Given the description of an element on the screen output the (x, y) to click on. 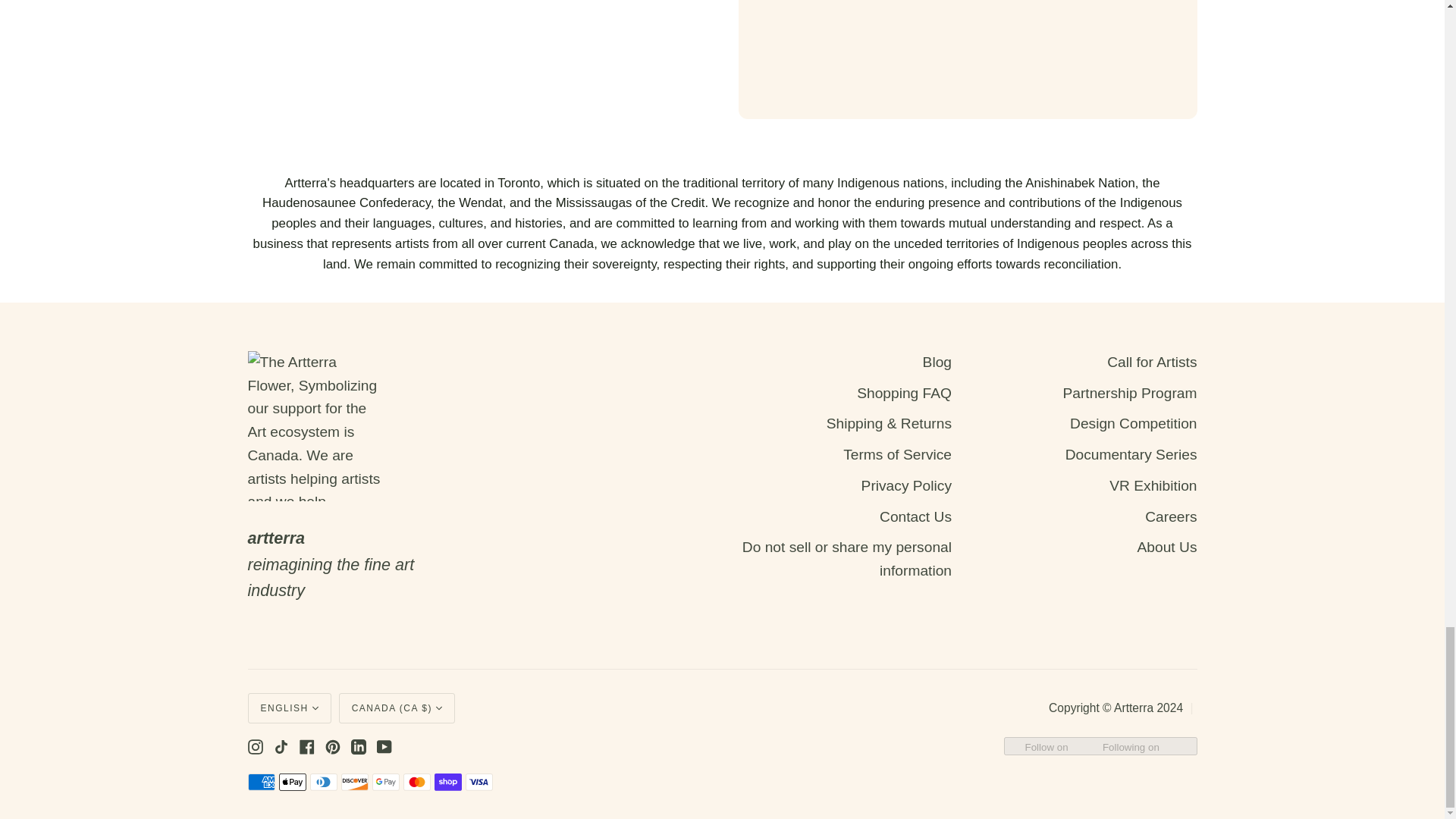
Artterra on TikTok (280, 746)
Artterra on Instagram (254, 746)
